Given the description of an element on the screen output the (x, y) to click on. 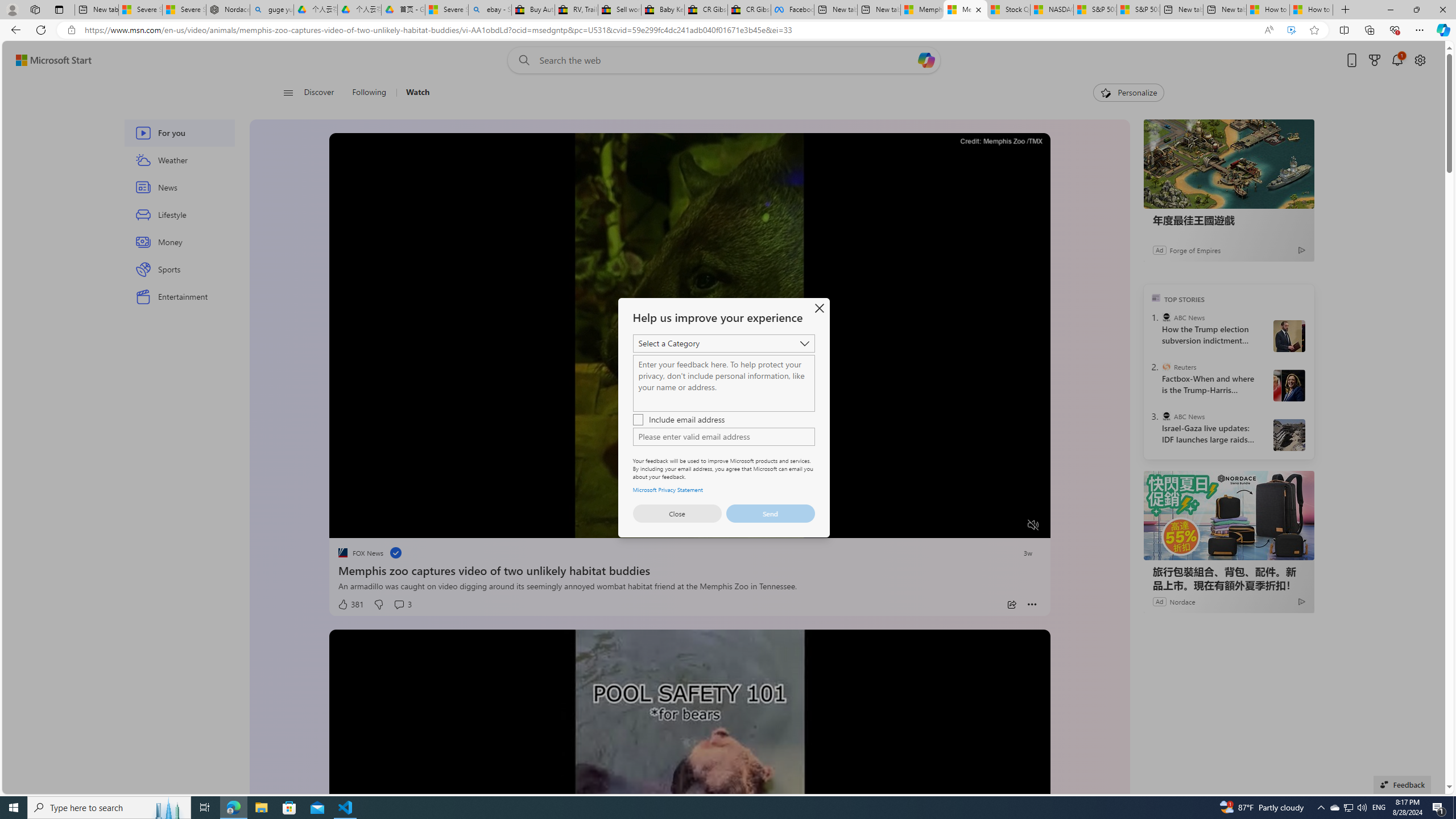
Progress Bar (689, 510)
